Given the description of an element on the screen output the (x, y) to click on. 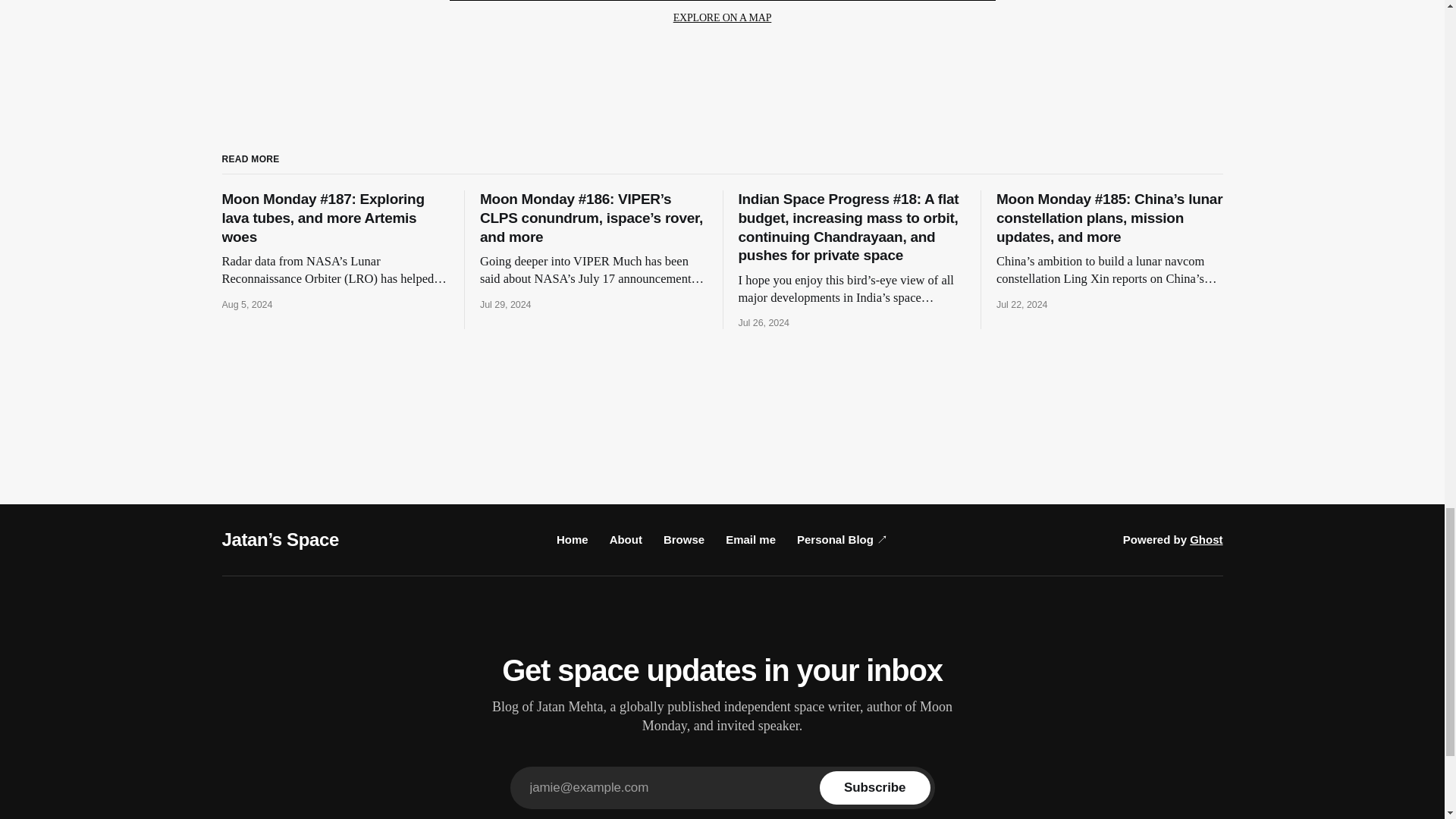
Home (572, 539)
Browse (683, 539)
About (626, 539)
Email me (750, 539)
EXPLORE ON A MAP (721, 17)
Ghost (1206, 539)
Subscribe (874, 787)
